Given the description of an element on the screen output the (x, y) to click on. 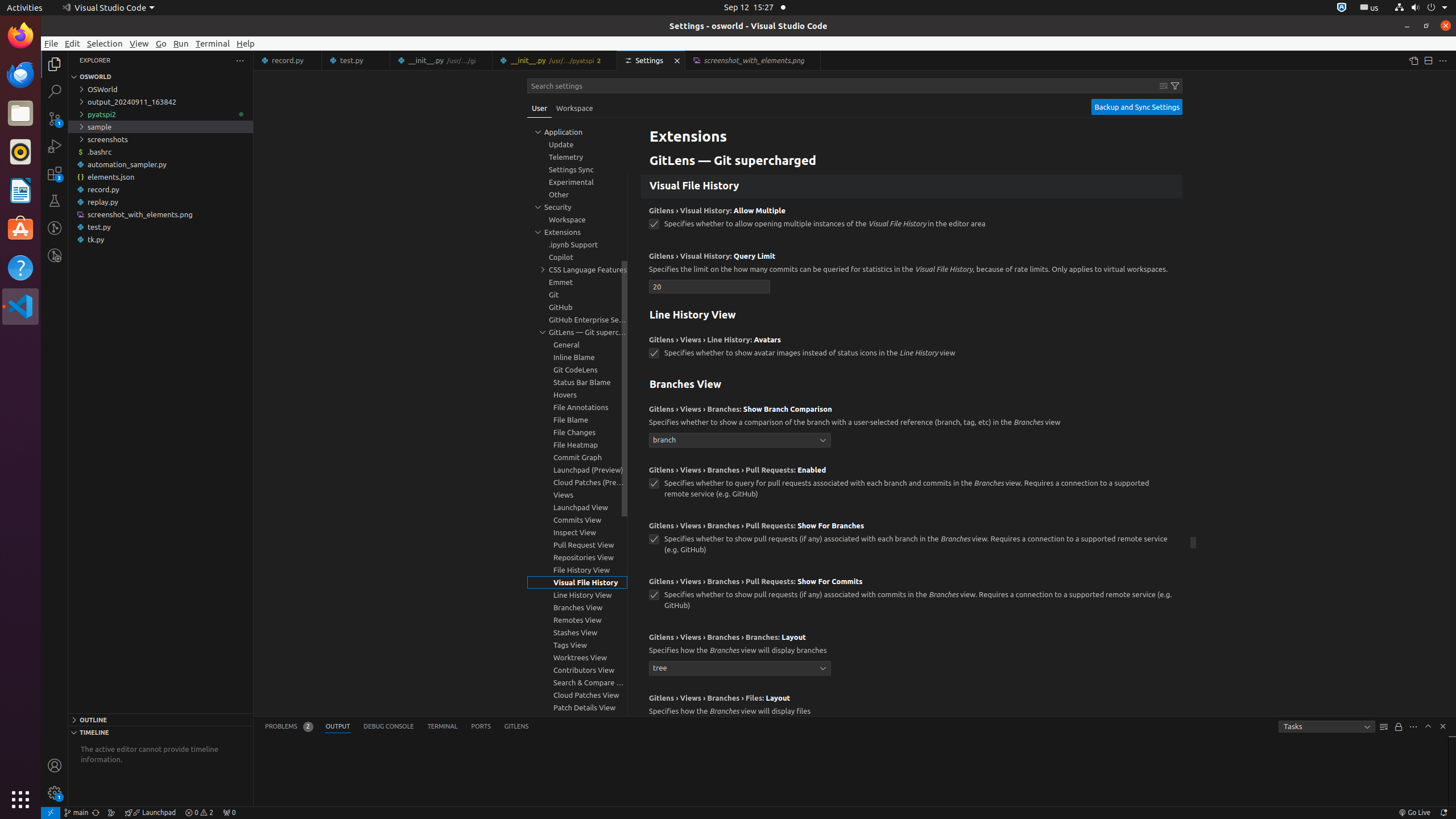
tree Element type: menu-item (739, 667)
Cloud Patches (Preview), group Element type: tree-item (577, 482)
gitlens.views.branches.pullRequests.showForBranches Element type: check-box (653, 539)
Line History View, group Element type: tree-item (577, 594)
broadcast Go Live, Click to run live server Element type: push-button (1414, 812)
